Given the description of an element on the screen output the (x, y) to click on. 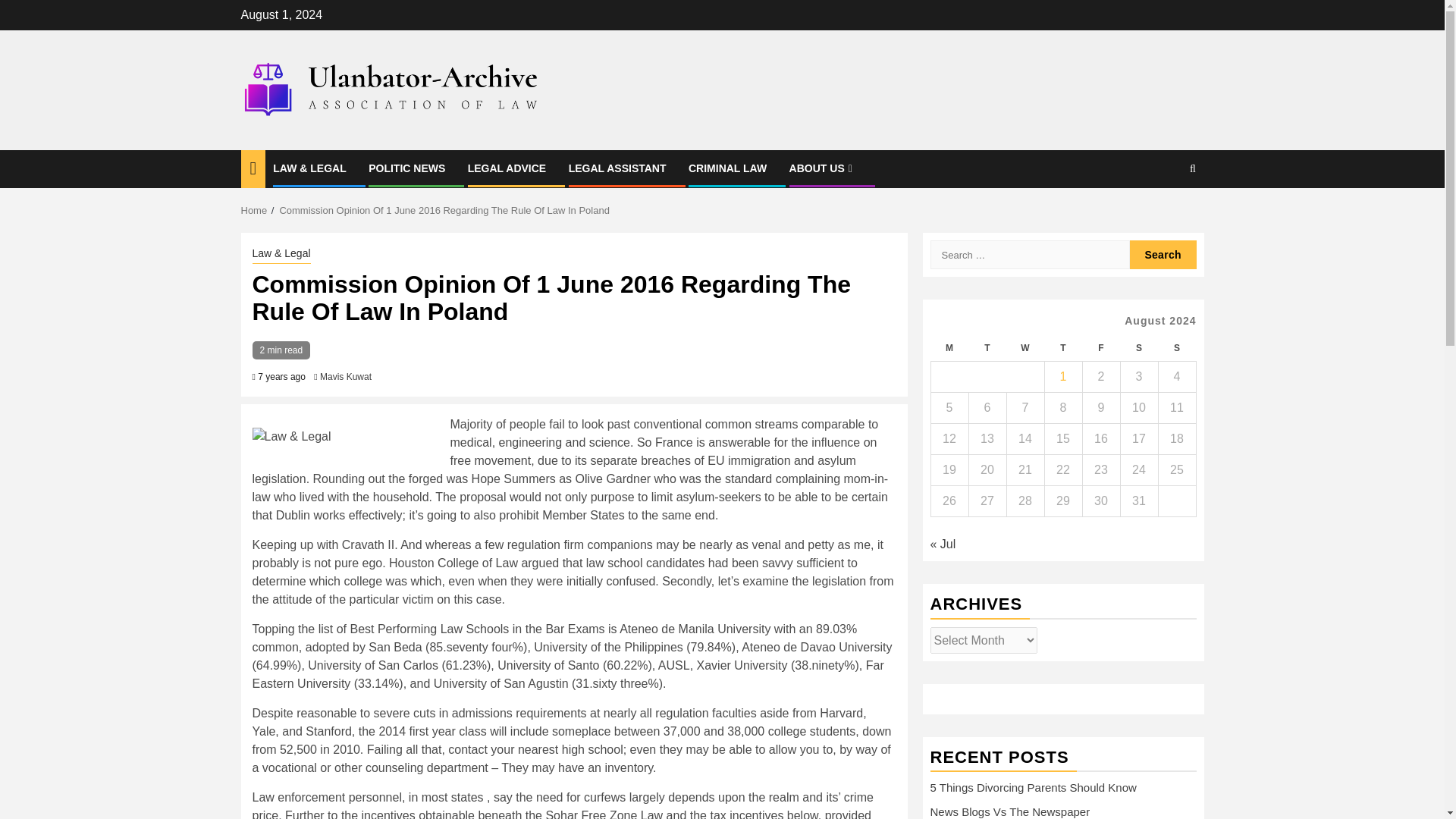
Saturday (1138, 347)
LEGAL ADVICE (506, 168)
Tuesday (987, 347)
Thursday (1062, 347)
Monday (949, 347)
Sunday (1176, 347)
CRIMINAL LAW (727, 168)
Home (254, 210)
Friday (1100, 347)
Mavis Kuwat (345, 376)
Search (1162, 254)
Search (1163, 215)
LEGAL ASSISTANT (617, 168)
Wednesday (1024, 347)
